Given the description of an element on the screen output the (x, y) to click on. 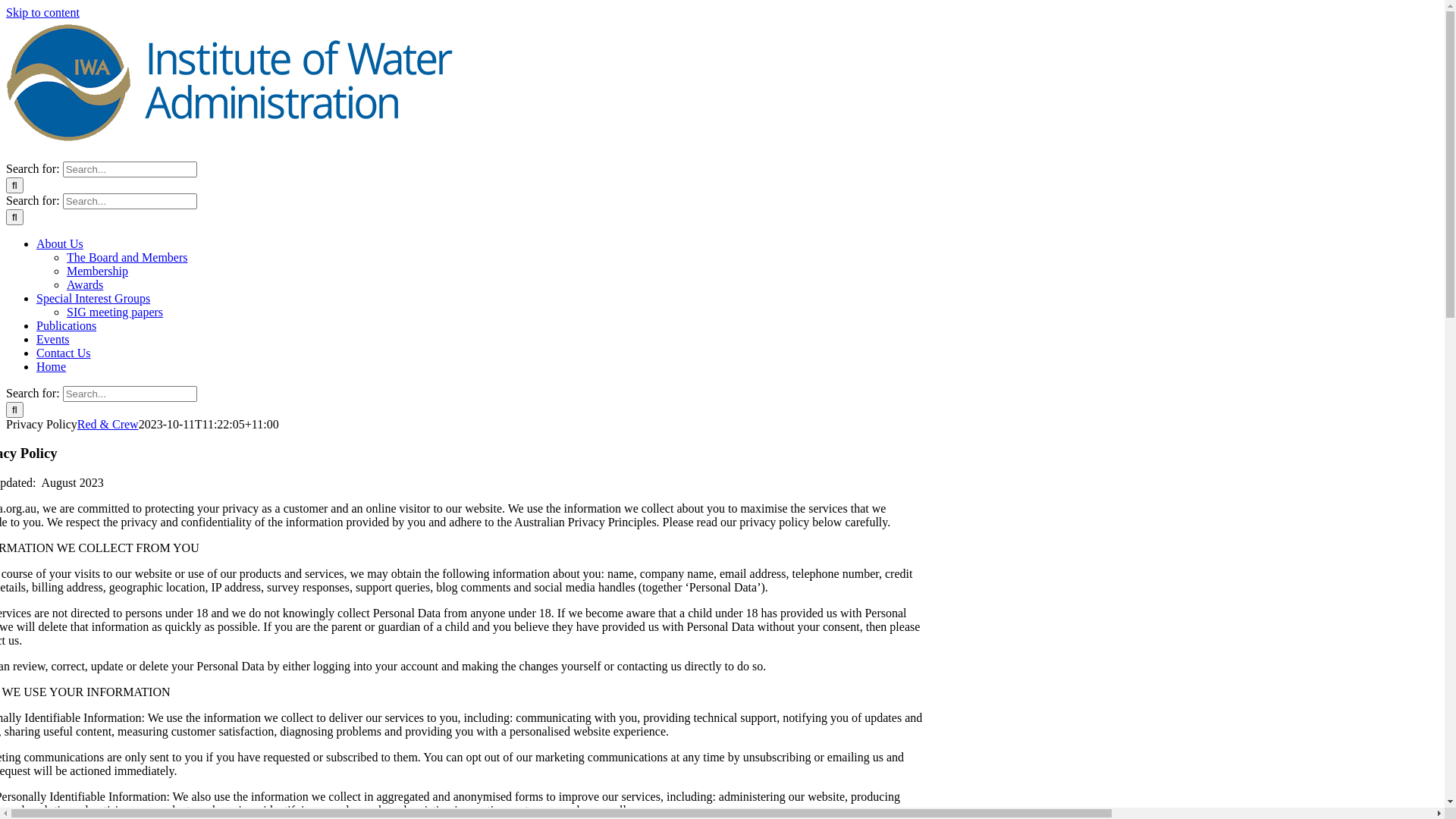
Awards Element type: text (84, 284)
Membership Element type: text (97, 270)
Special Interest Groups Element type: text (93, 297)
Skip to content Element type: text (42, 12)
Events Element type: text (52, 338)
About Us Element type: text (59, 243)
Home Element type: text (50, 366)
SIG meeting papers Element type: text (114, 311)
Contact Us Element type: text (63, 352)
The Board and Members Element type: text (127, 257)
Publications Element type: text (66, 325)
Red & Crew Element type: text (107, 423)
